Given the description of an element on the screen output the (x, y) to click on. 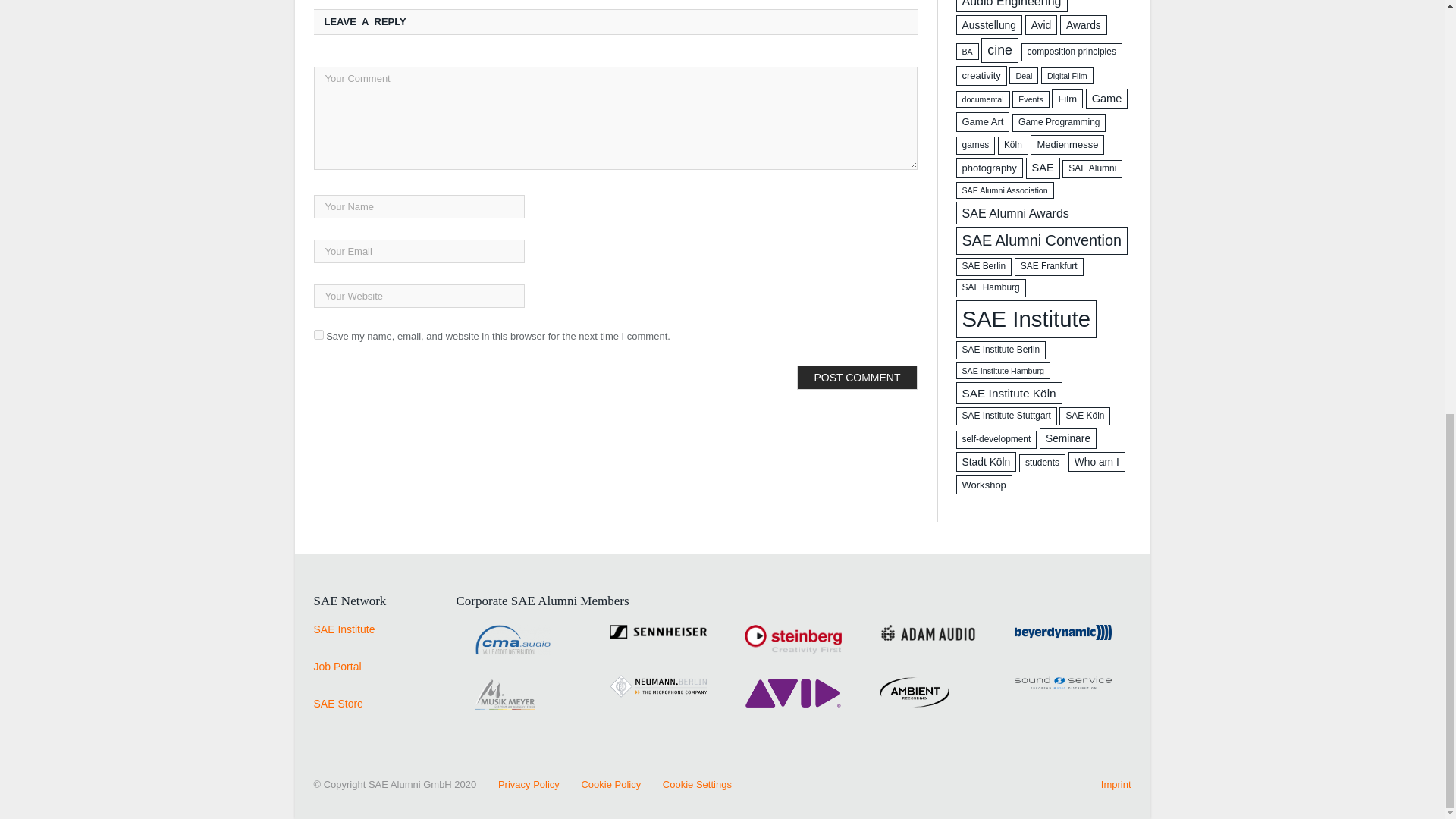
Privacy Policy (519, 784)
yes (318, 334)
Post Comment (856, 377)
Cookie Policy (601, 784)
